Given the description of an element on the screen output the (x, y) to click on. 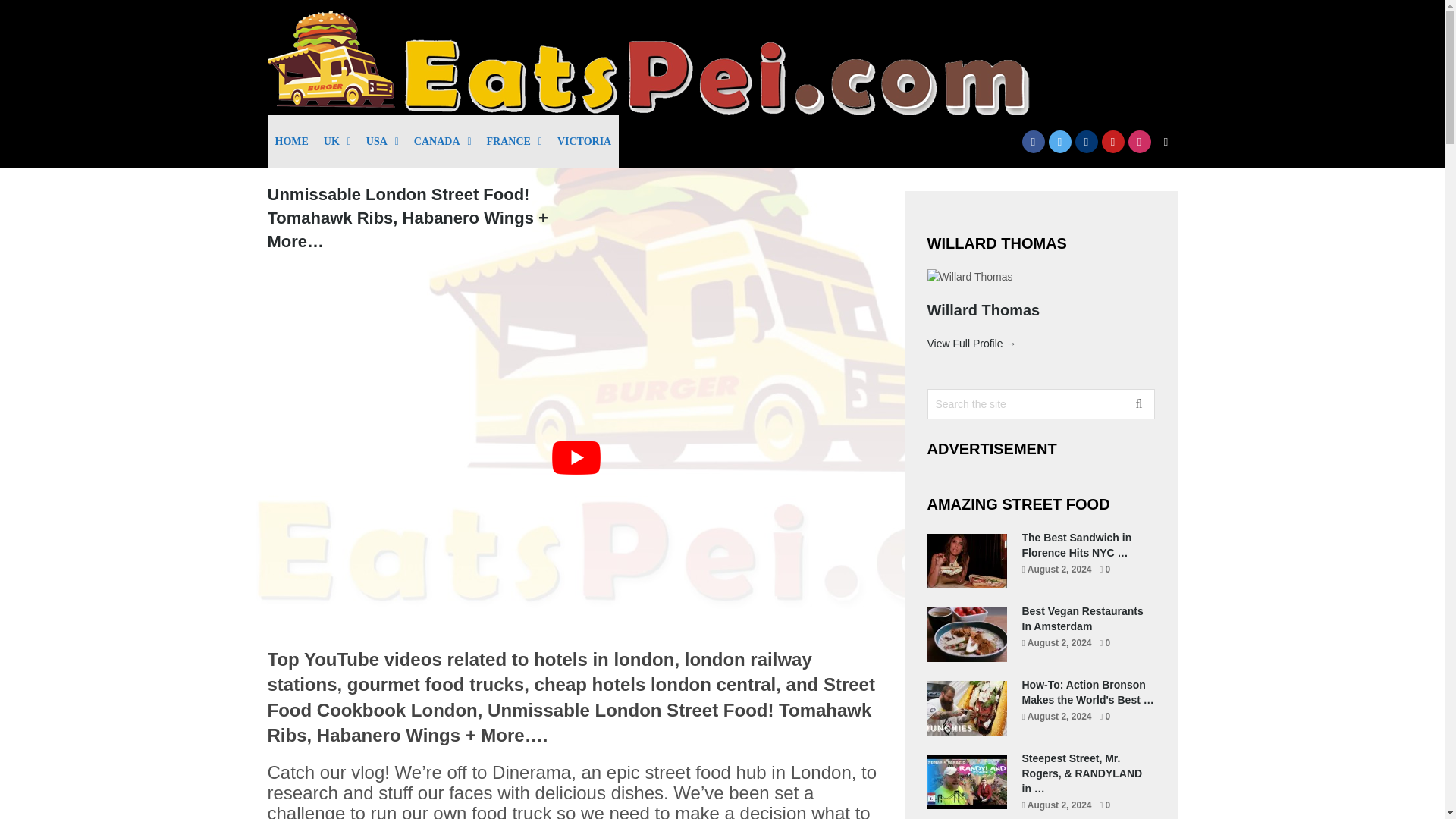
FRANCE (514, 141)
HOME (290, 141)
USA (382, 141)
VICTORIA (584, 141)
CANADA (442, 141)
